Given the description of an element on the screen output the (x, y) to click on. 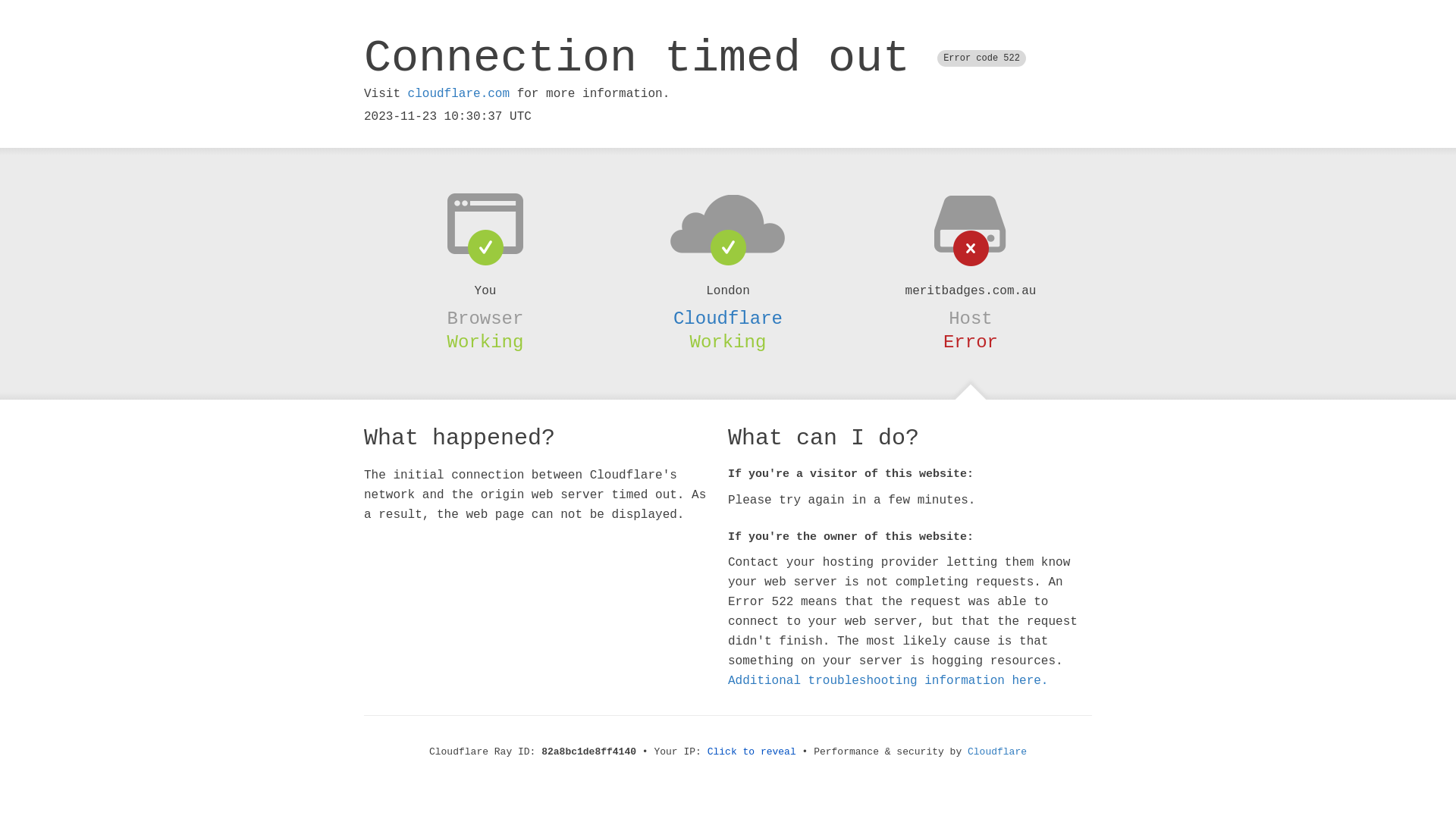
Click to reveal Element type: text (751, 751)
Additional troubleshooting information here. Element type: text (888, 680)
Cloudflare Element type: text (996, 751)
Cloudflare Element type: text (727, 318)
cloudflare.com Element type: text (458, 93)
